Given the description of an element on the screen output the (x, y) to click on. 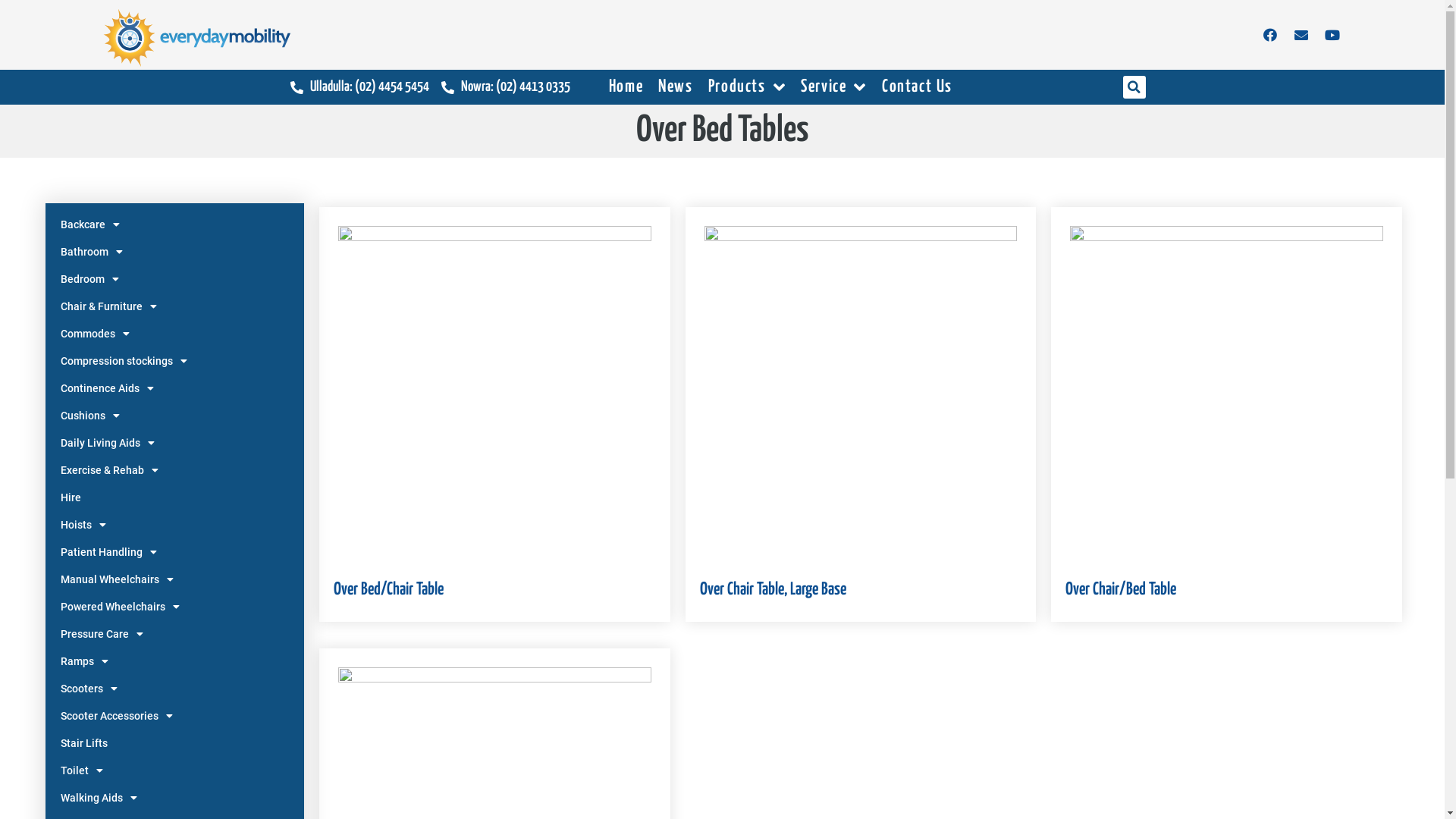
Continence Aids Element type: text (174, 387)
Home Element type: text (625, 86)
Hoists Element type: text (174, 524)
News Element type: text (674, 86)
Over Chair/Bed Table Element type: text (1225, 590)
Products Element type: text (746, 86)
Powered Wheelchairs Element type: text (174, 606)
Scooters Element type: text (174, 688)
Patient Handling Element type: text (174, 551)
Commodes Element type: text (174, 333)
Toilet Element type: text (174, 770)
Ulladulla: (02) 4454 5454 Element type: text (358, 86)
Chair & Furniture Element type: text (174, 306)
Service Element type: text (833, 86)
Over Chair Table, Large Base Element type: text (860, 590)
Contact Us Element type: text (917, 86)
Ramps Element type: text (174, 660)
Backcare Element type: text (174, 224)
Bathroom Element type: text (174, 251)
Pressure Care Element type: text (174, 633)
Scooter Accessories Element type: text (174, 715)
Walking Aids Element type: text (174, 797)
Stair Lifts Element type: text (174, 742)
Daily Living Aids Element type: text (174, 442)
Compression stockings Element type: text (174, 360)
Exercise & Rehab Element type: text (174, 469)
Manual Wheelchairs Element type: text (174, 579)
Nowra: (02) 4413 0335 Element type: text (505, 86)
Bedroom Element type: text (174, 278)
Over Bed/Chair Table Element type: text (494, 590)
Cushions Element type: text (174, 415)
Hire Element type: text (174, 497)
